Given the description of an element on the screen output the (x, y) to click on. 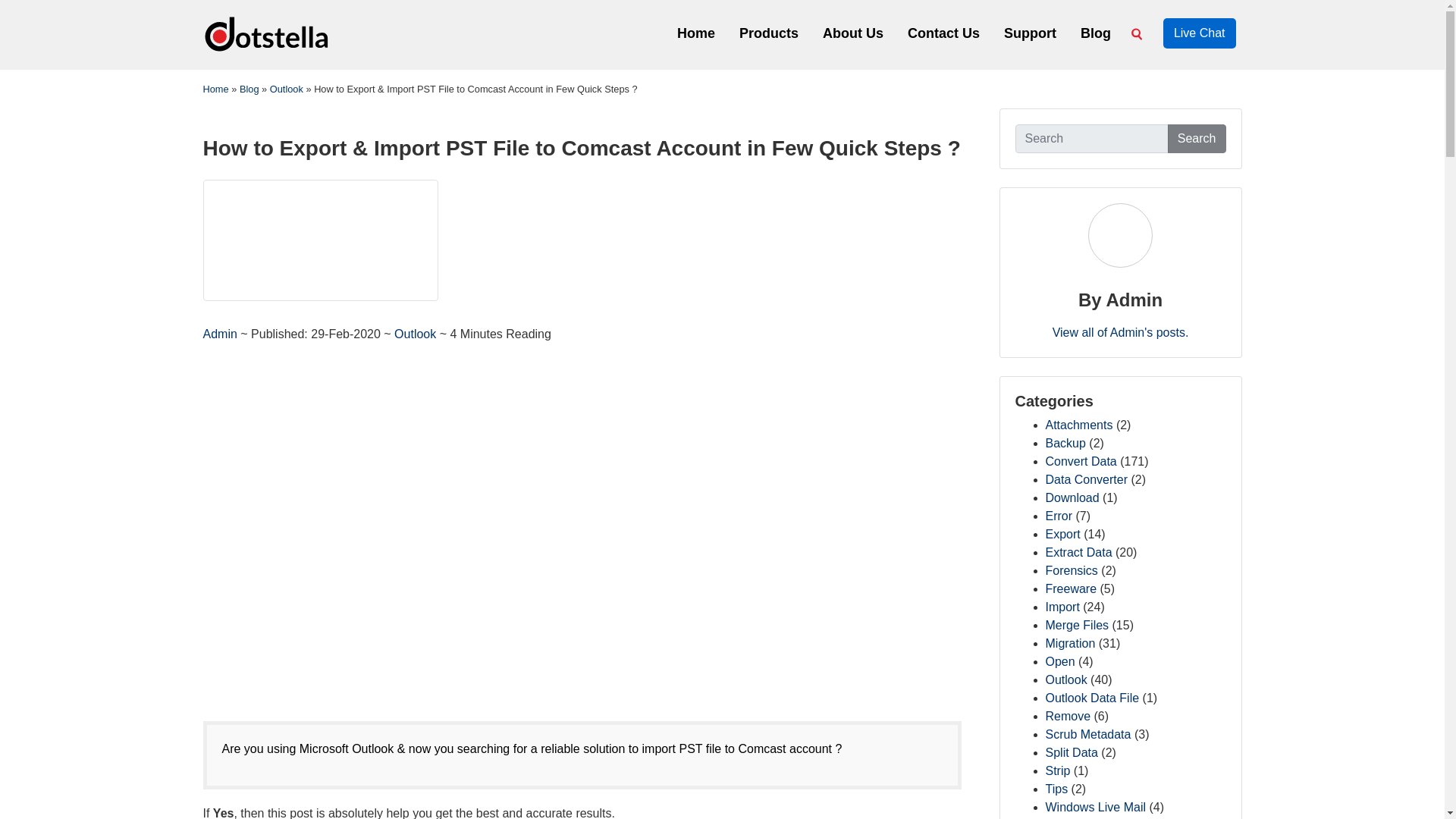
Scrub Metadata (1088, 734)
Merge Files (1076, 625)
Data Converter (1085, 479)
Search (1196, 138)
Import (1061, 606)
Open (1059, 661)
Blog (1095, 32)
Extract Data (1078, 552)
Download (1072, 497)
Freeware (1070, 588)
